Given the description of an element on the screen output the (x, y) to click on. 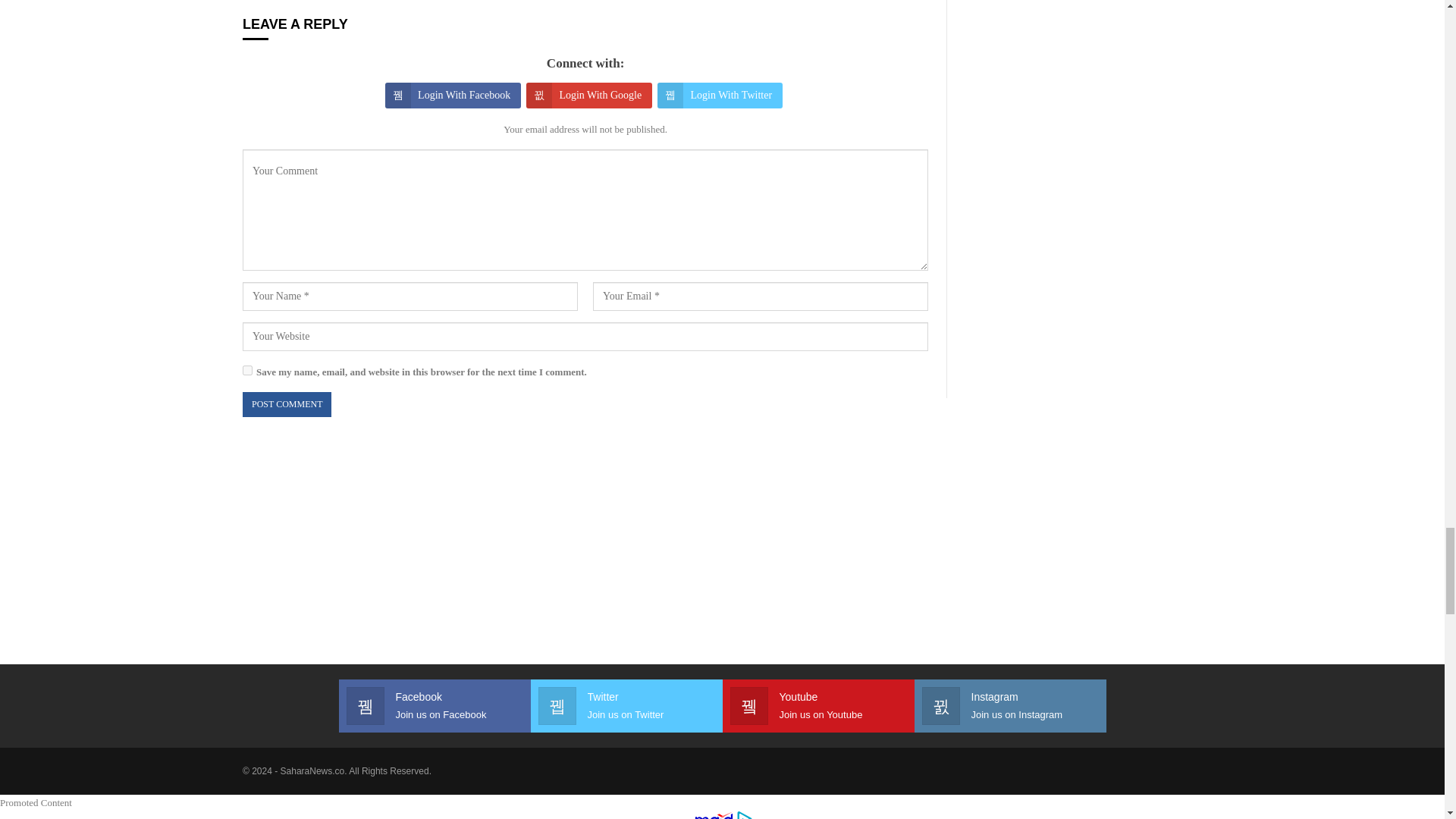
yes (247, 370)
Post Comment (287, 404)
